Given the description of an element on the screen output the (x, y) to click on. 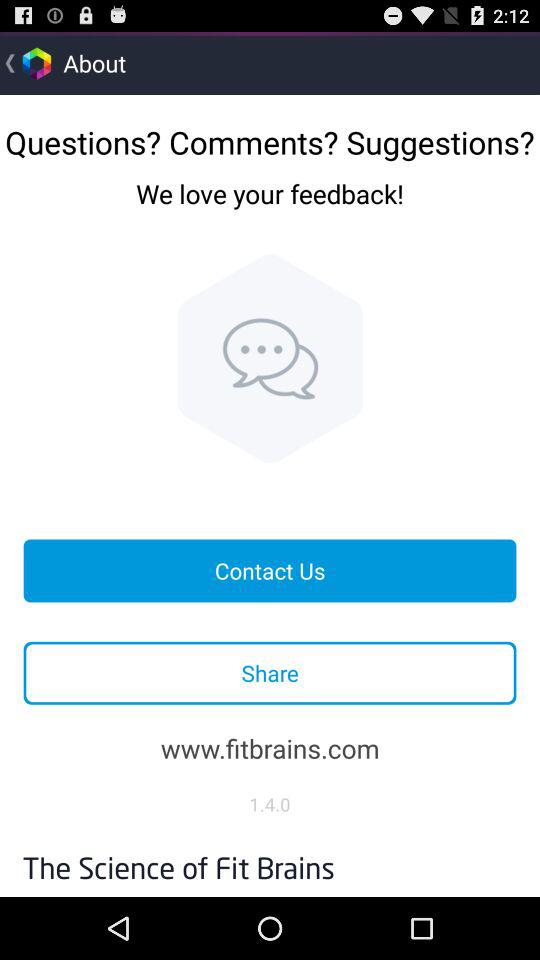
press the we love your app (270, 209)
